Given the description of an element on the screen output the (x, y) to click on. 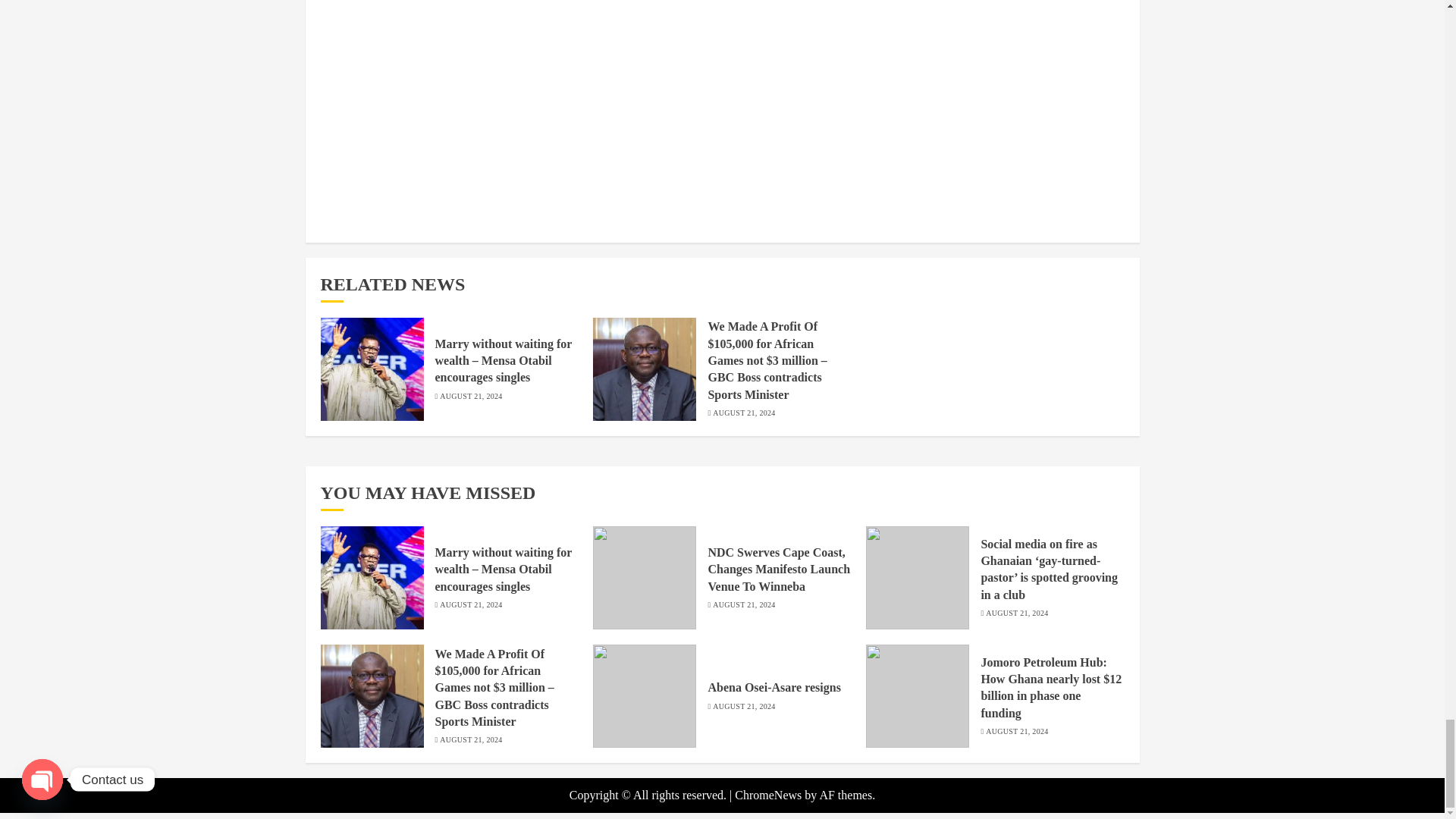
AUGUST 21, 2024 (470, 396)
AUGUST 21, 2024 (743, 412)
AUGUST 21, 2024 (470, 604)
AUGUST 21, 2024 (743, 604)
